Given the description of an element on the screen output the (x, y) to click on. 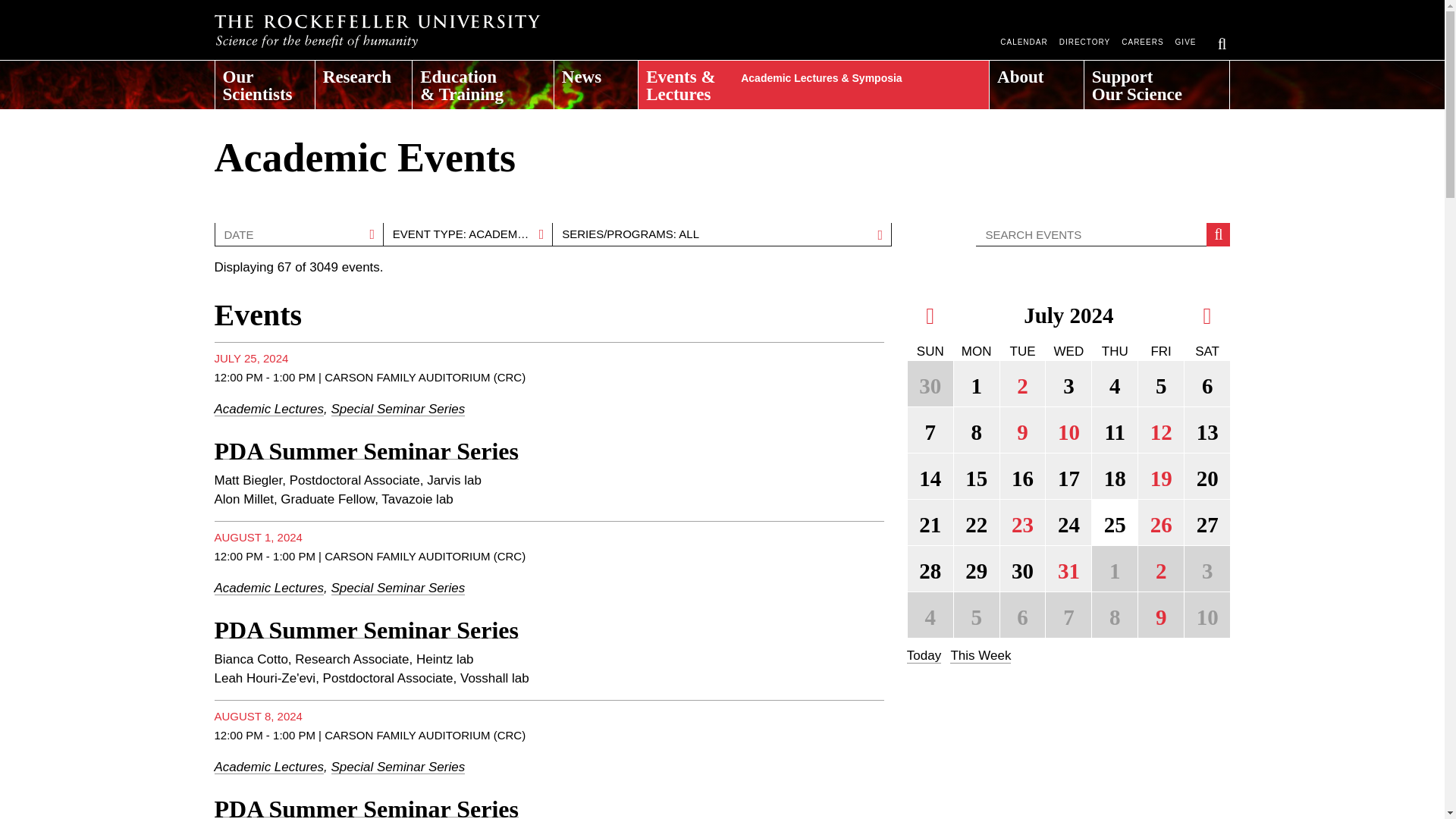
Our Scientists (264, 80)
PDA Summer Seminar Series (366, 450)
PDA Summer Seminar Series (366, 807)
Academic Lecture (467, 233)
News (595, 80)
All (722, 233)
Research (363, 80)
PDA Summer Seminar Series (366, 629)
